Given the description of an element on the screen output the (x, y) to click on. 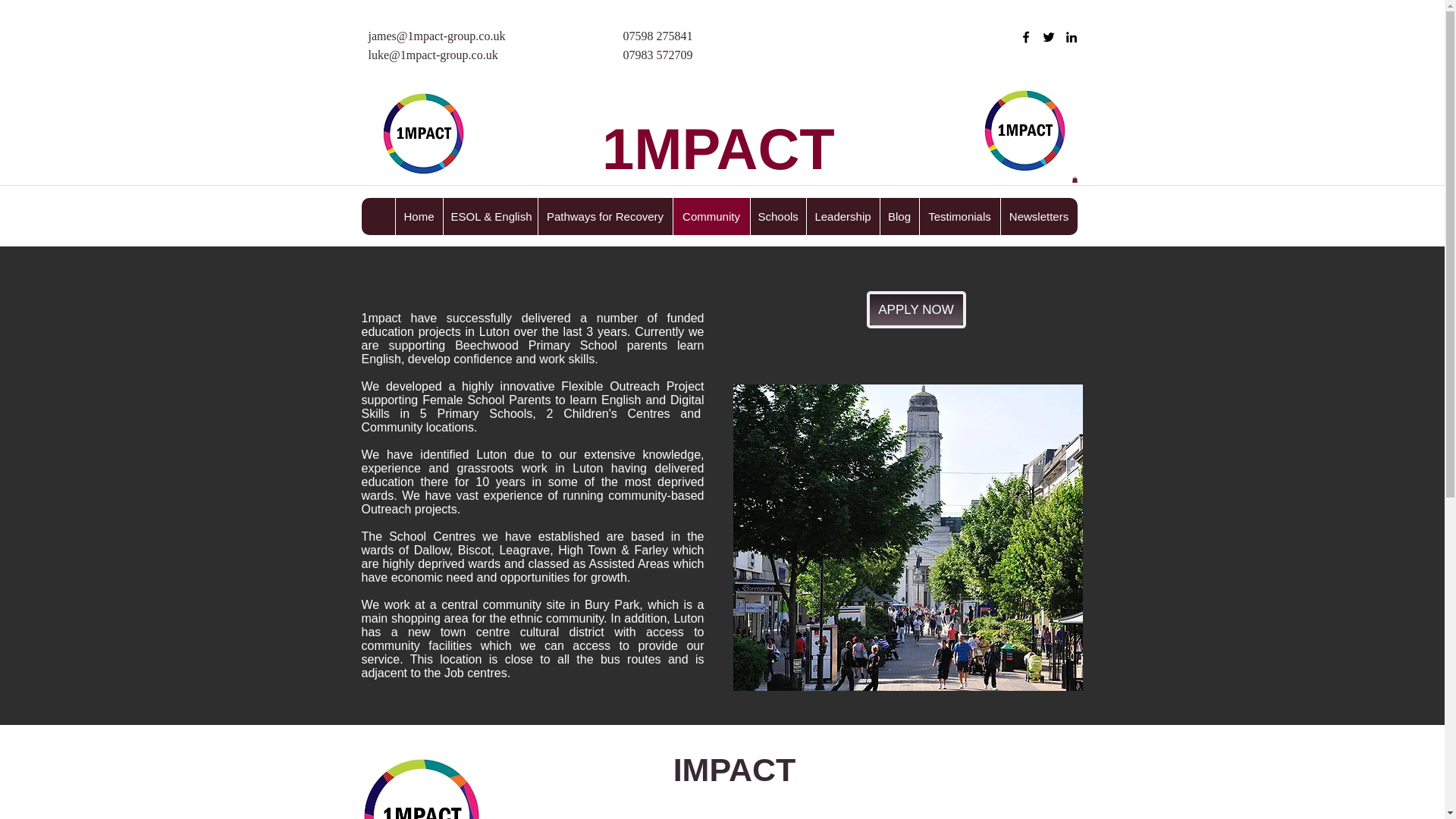
Home (418, 216)
Testimonials (959, 216)
Blog (898, 216)
APPLY NOW (915, 309)
Pathways for Recovery (604, 216)
Leadership (842, 216)
Community (710, 216)
Schools (777, 216)
Newsletters (1037, 216)
